Given the description of an element on the screen output the (x, y) to click on. 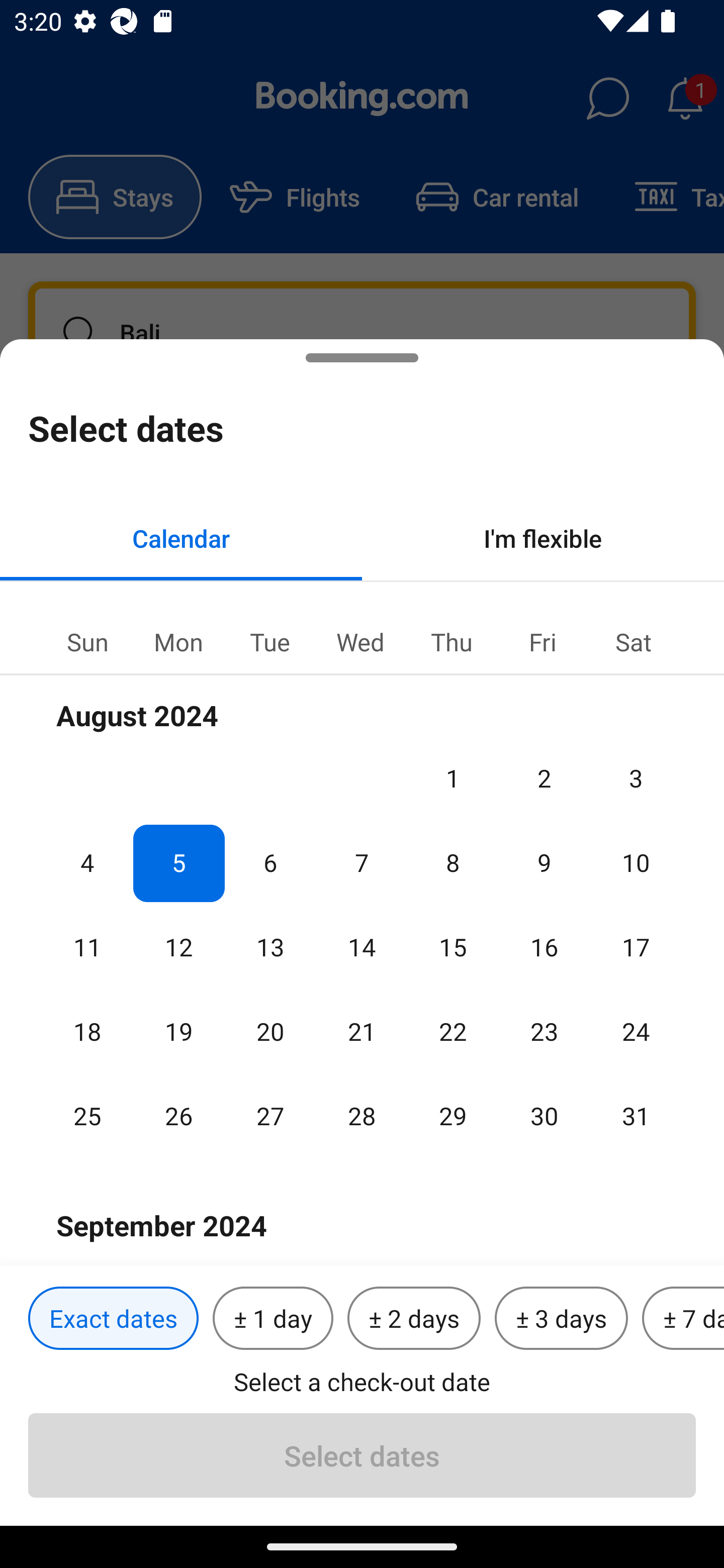
I'm flexible (543, 537)
Exact dates (113, 1318)
± 1 day (272, 1318)
± 2 days (413, 1318)
± 3 days (560, 1318)
± 7 days (683, 1318)
Select dates (361, 1454)
